Given the description of an element on the screen output the (x, y) to click on. 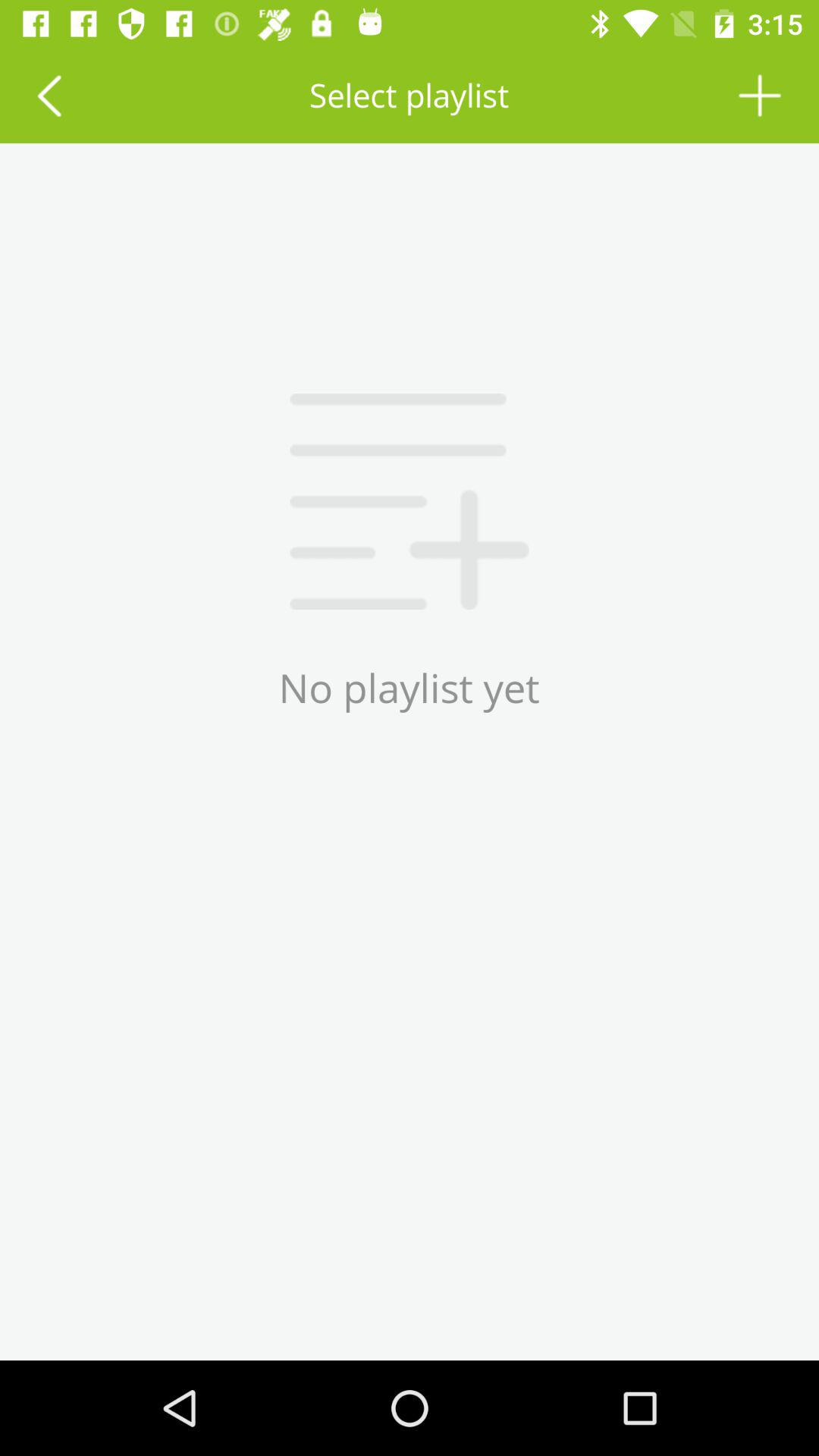
tap icon at the top right corner (759, 95)
